Given the description of an element on the screen output the (x, y) to click on. 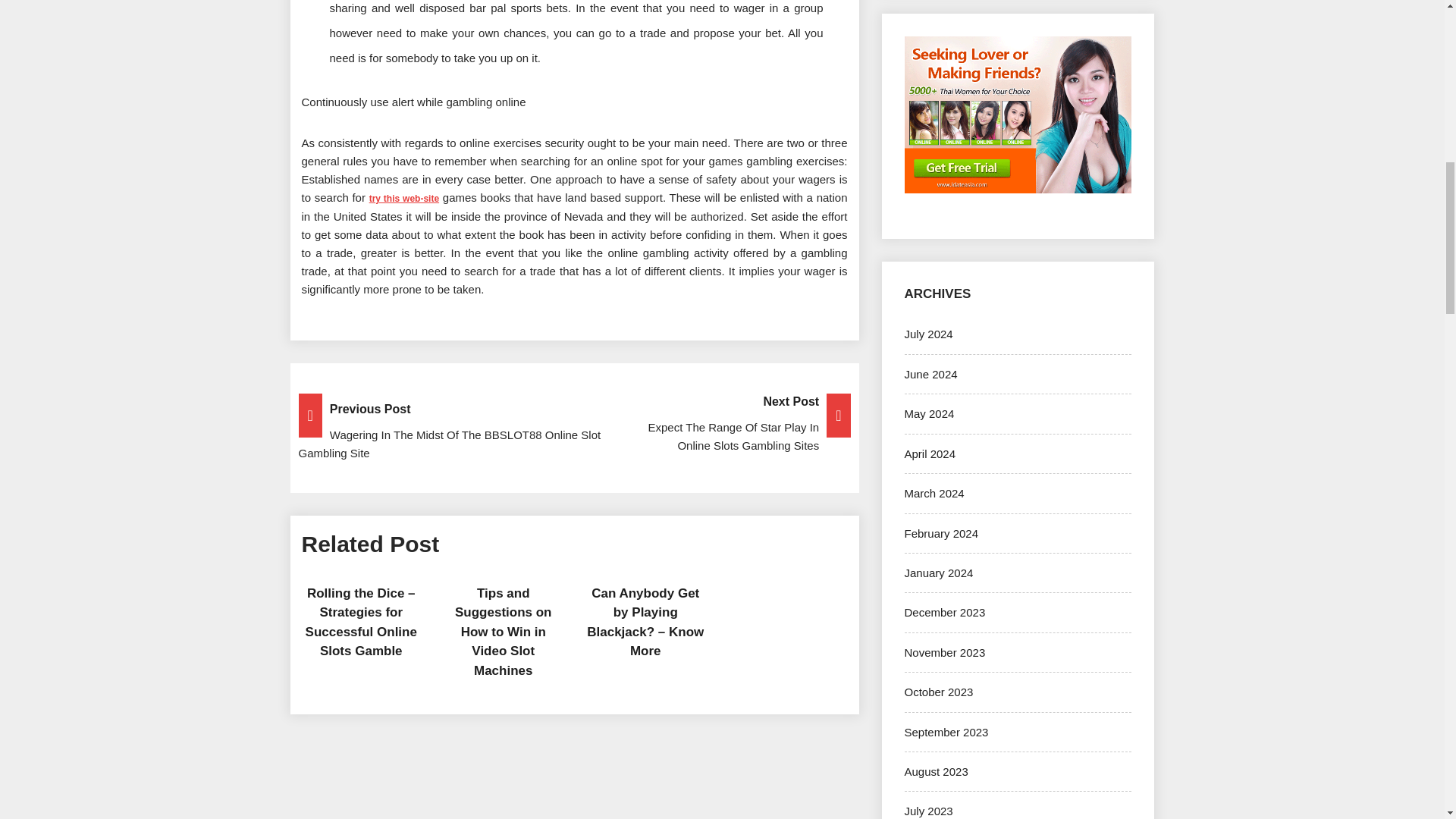
June 2024 (930, 373)
August 2023 (936, 771)
November 2023 (944, 652)
July 2023 (928, 810)
December 2023 (944, 612)
February 2024 (941, 533)
January 2024 (938, 572)
September 2023 (946, 731)
July 2024 (928, 333)
April 2024 (929, 453)
October 2023 (938, 691)
May 2024 (928, 413)
March 2024 (933, 492)
try this web-site (404, 198)
